Given the description of an element on the screen output the (x, y) to click on. 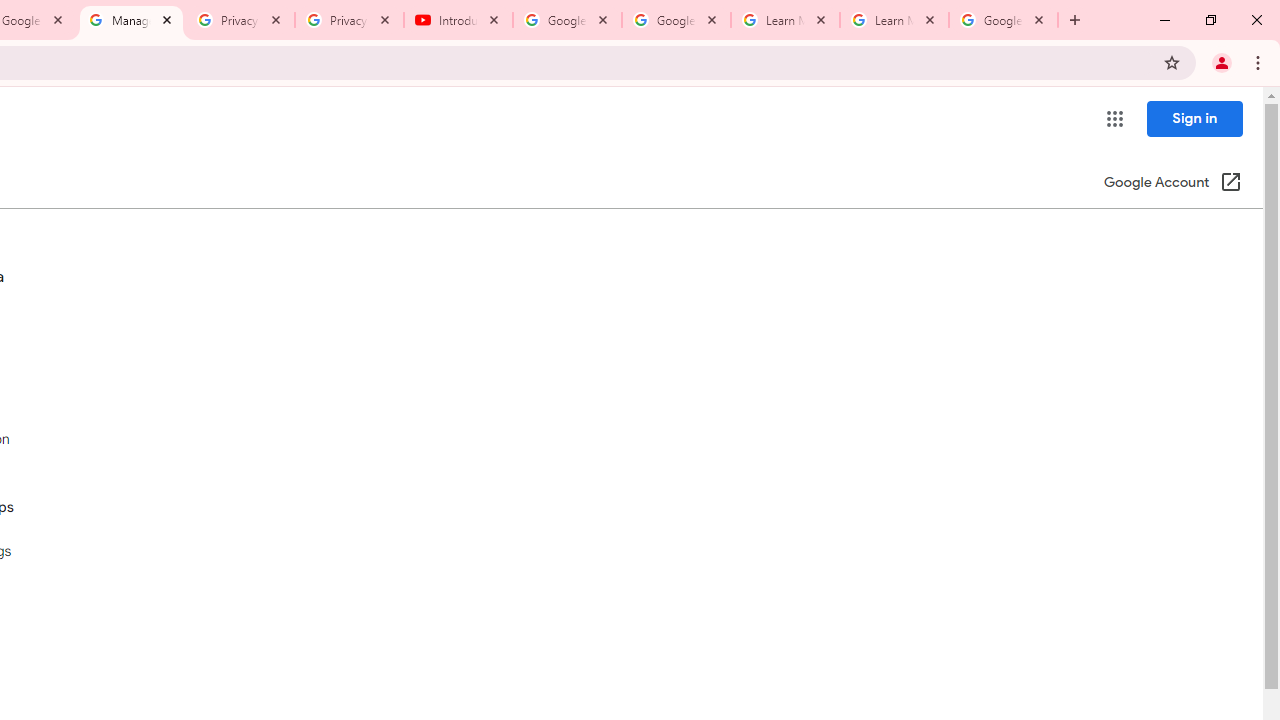
Google Account (Open in a new window) (1172, 183)
Introduction | Google Privacy Policy - YouTube (458, 20)
Google Account Help (676, 20)
Google Account (1003, 20)
Google Account Help (567, 20)
